Given the description of an element on the screen output the (x, y) to click on. 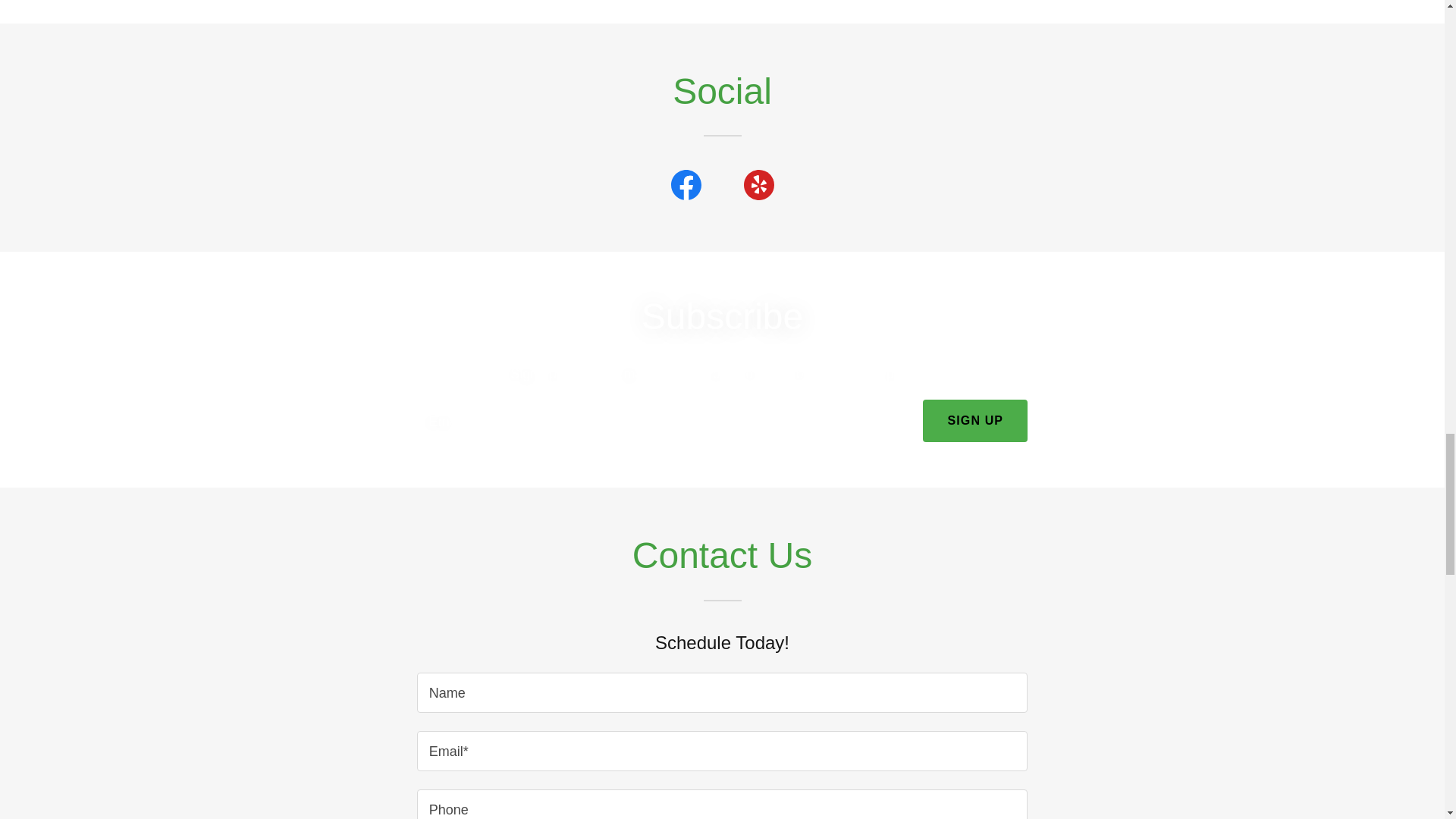
SIGN UP (975, 420)
